Given the description of an element on the screen output the (x, y) to click on. 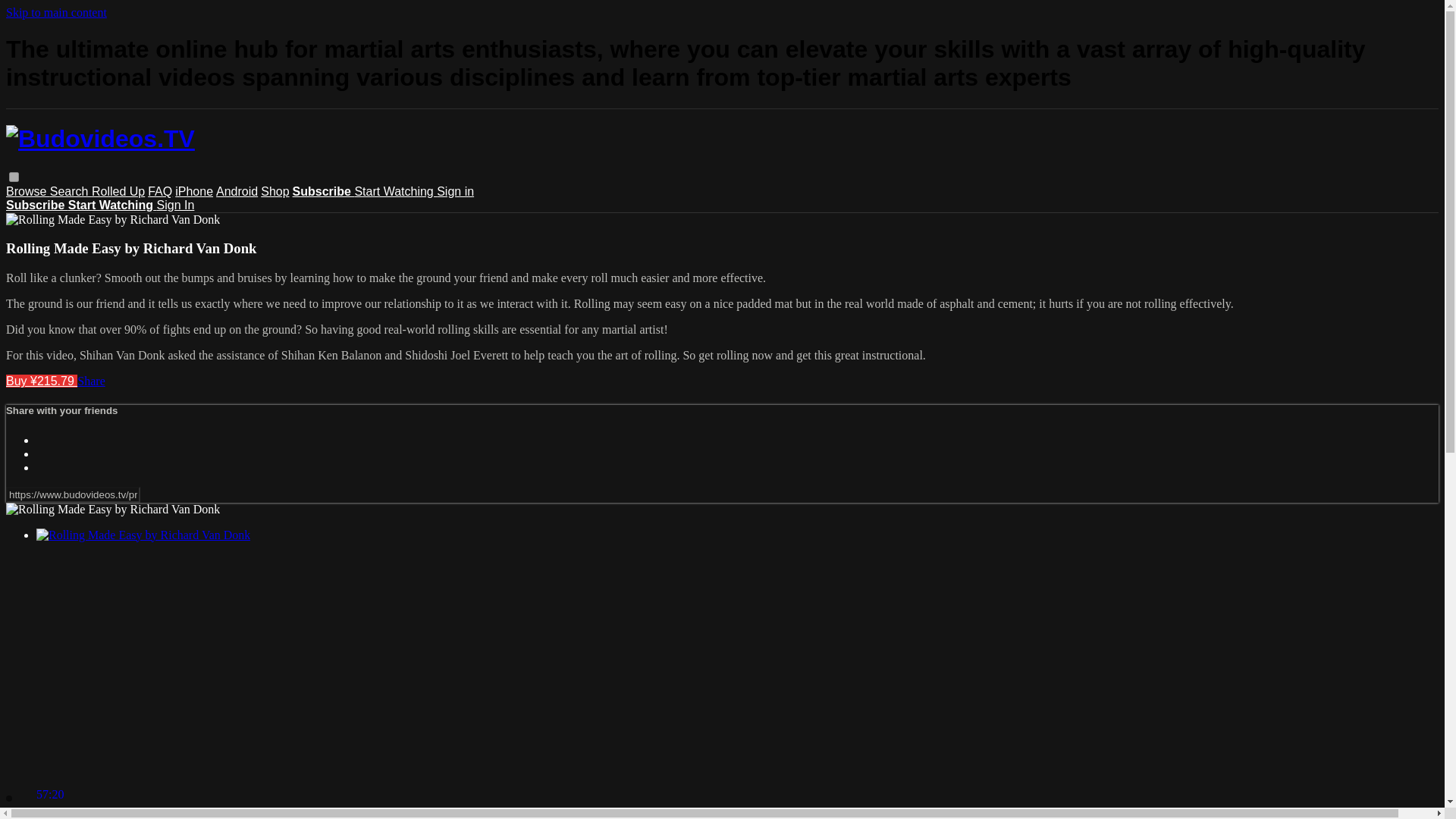
Search (70, 191)
Start Watching (394, 191)
FAQ (159, 191)
Browse (27, 191)
Skip to main content (55, 11)
Subscribe (36, 205)
Rolled Up (117, 191)
Share (90, 380)
Subscribe (323, 191)
Start Watching (112, 205)
iPhone (193, 191)
on (13, 176)
Shop (274, 191)
Android (236, 191)
Sign in (455, 191)
